Given the description of an element on the screen output the (x, y) to click on. 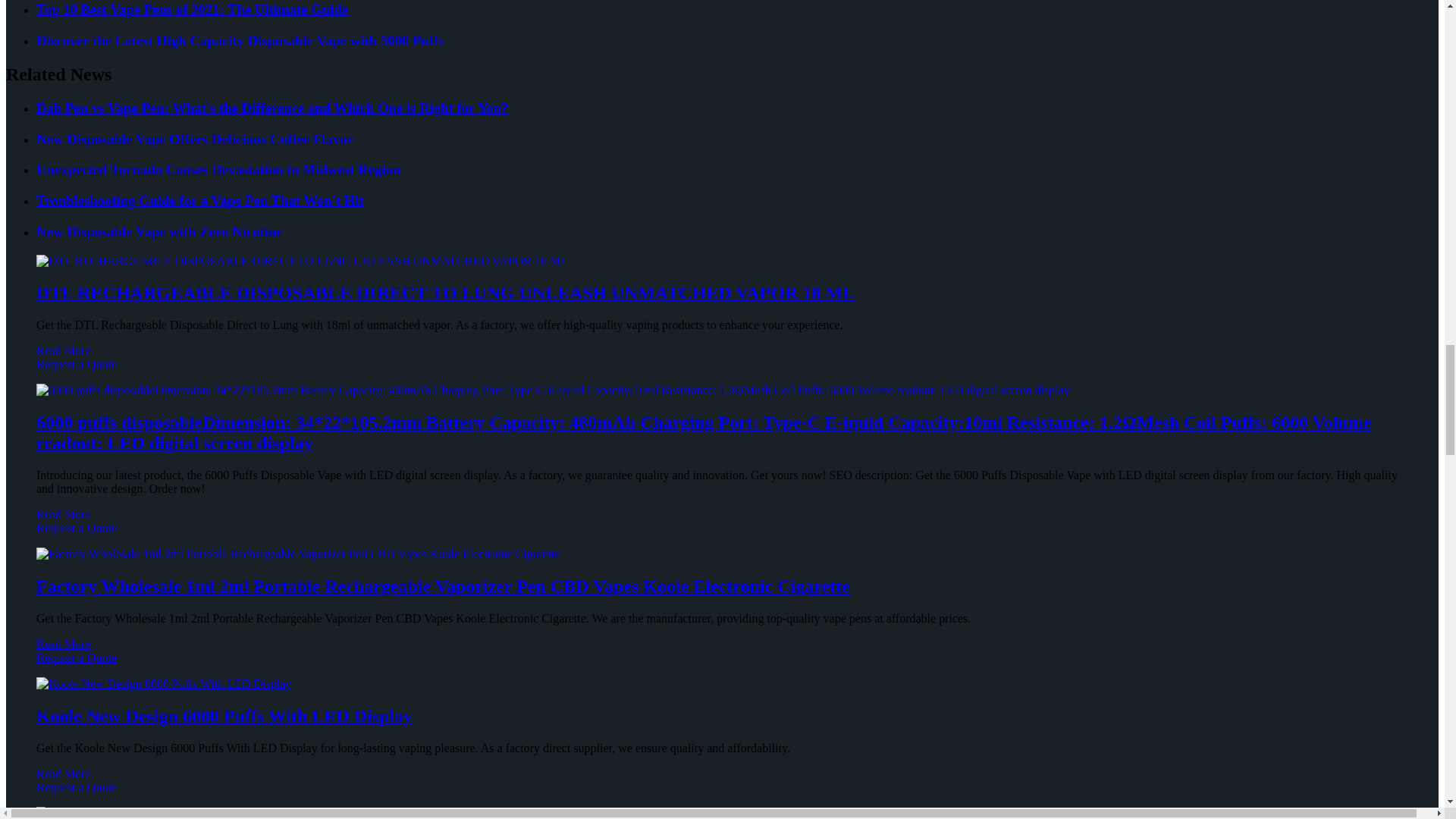
Top 10 Best Vape Pens of 2021: The Ultimate Guide (737, 9)
Troubleshooting Guide for a Vape Pen That Won't Hit (737, 200)
Request a Quote (721, 370)
Request a Quote (721, 534)
New Disposable Vape Offers Delicious Coffee Flavor (737, 139)
New Disposable Vape with Zero Nicotine (737, 231)
